Given the description of an element on the screen output the (x, y) to click on. 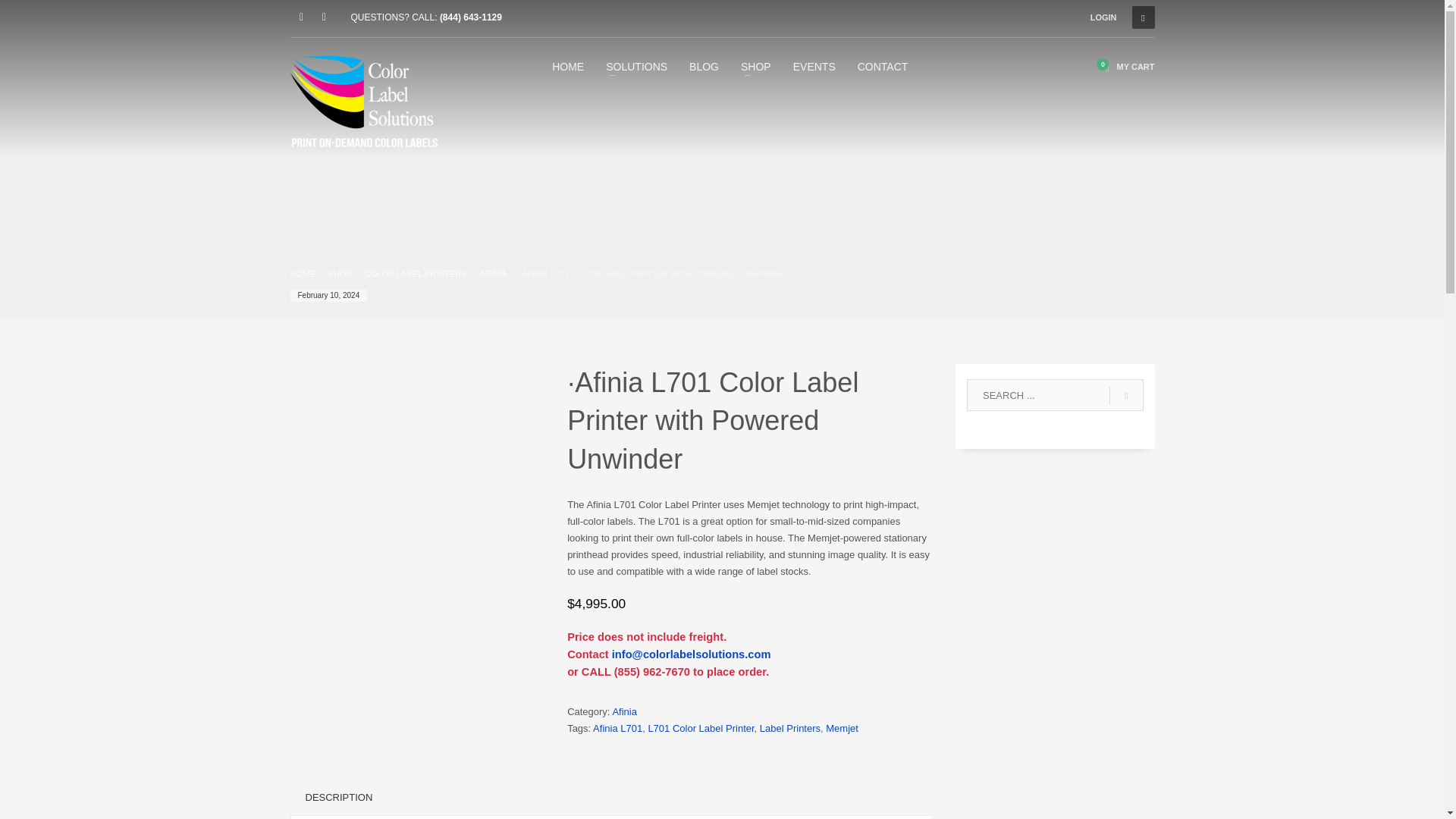
SHOP (756, 66)
Afinia (624, 711)
MY CART (1125, 66)
AFINIA (493, 273)
View your shopping cart (1125, 66)
HOME (567, 66)
Afinia L701 (617, 727)
HOME (301, 273)
SHOP (340, 273)
LOGIN (1103, 17)
